Given the description of an element on the screen output the (x, y) to click on. 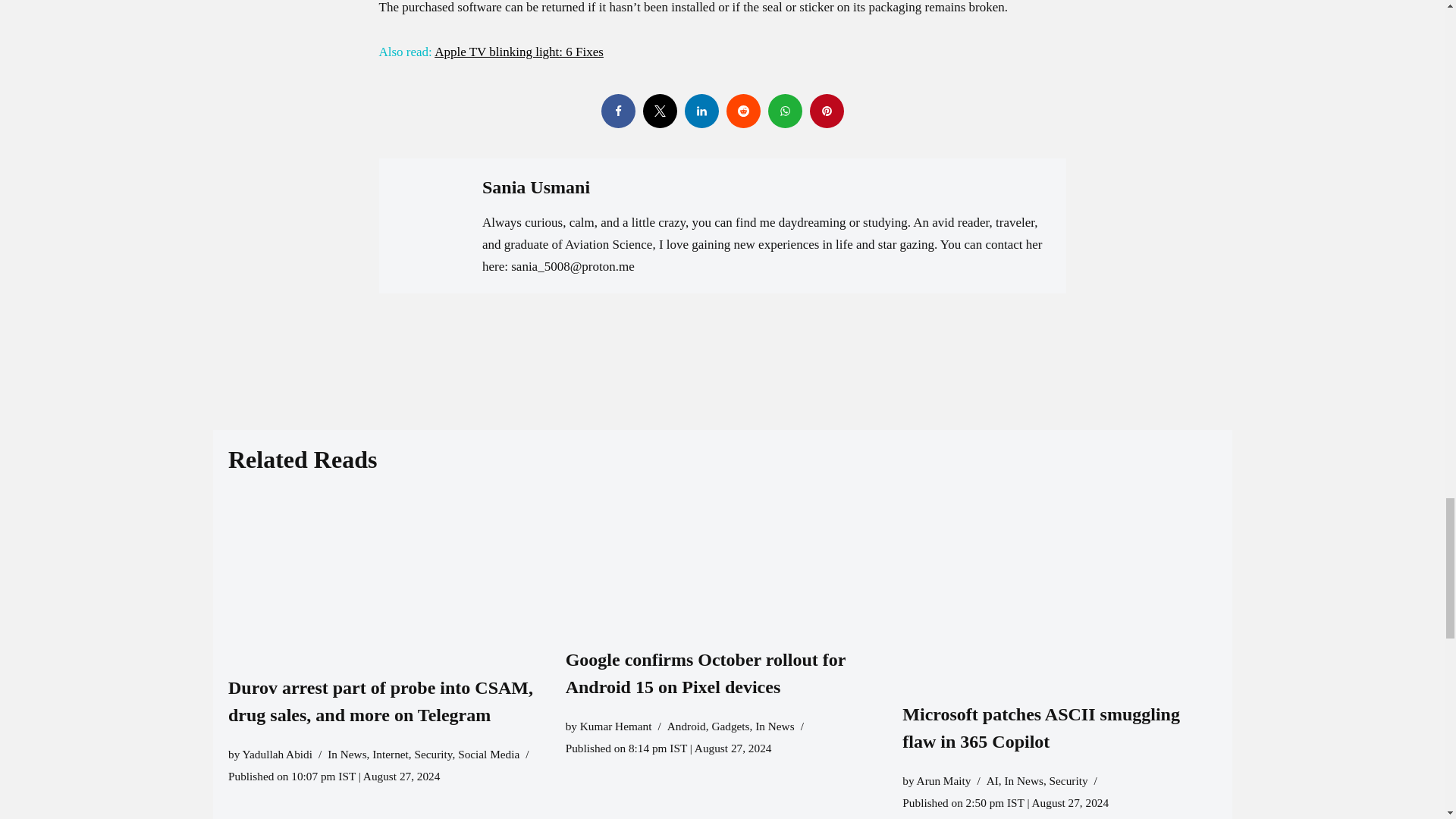
Twitter (660, 110)
Pinterest (826, 110)
Reddit (743, 110)
Whatsapp (784, 110)
Facebook (616, 110)
Linkedin (700, 110)
